Given the description of an element on the screen output the (x, y) to click on. 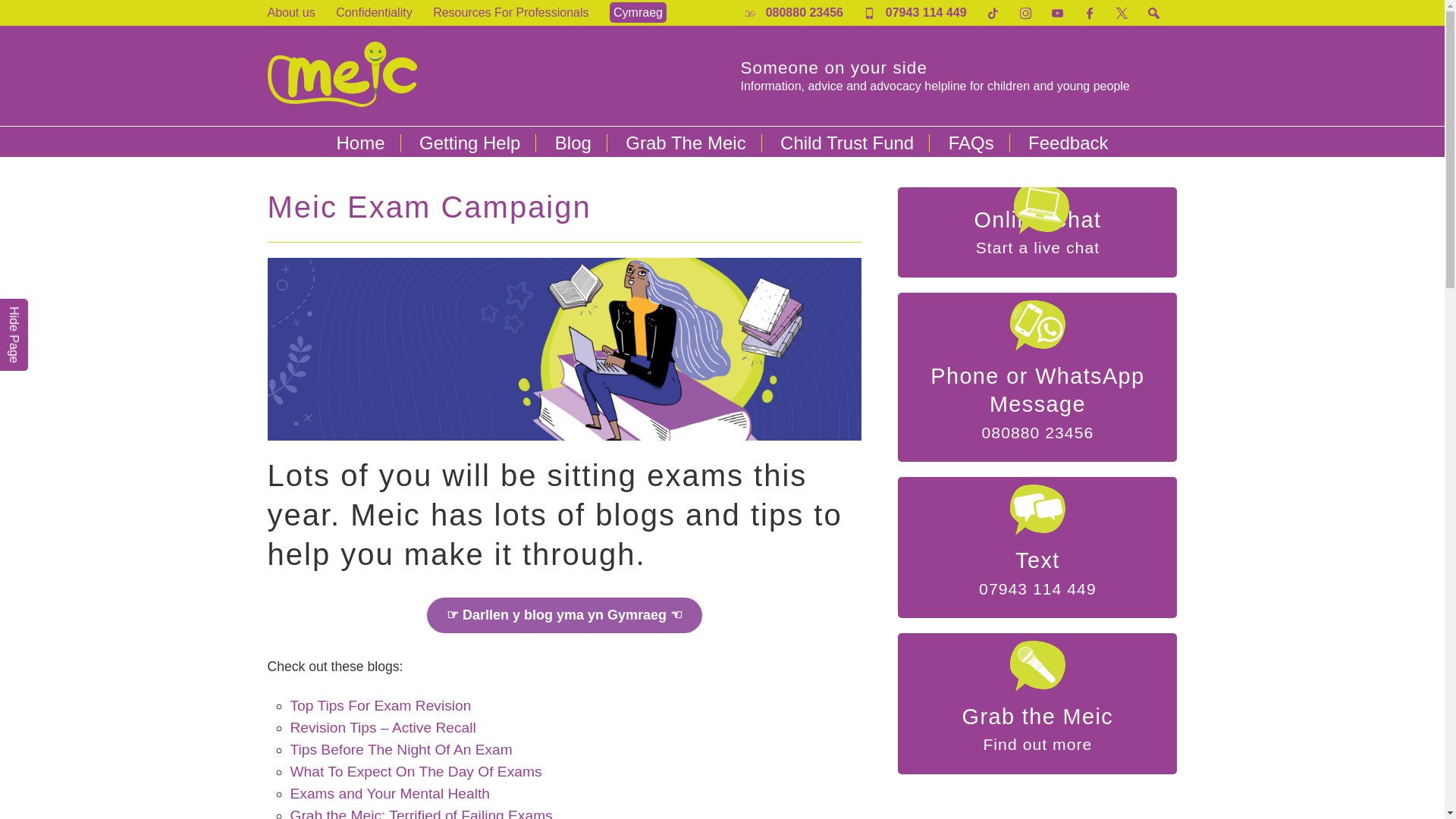
  07943 114 449 (914, 11)
  080880 23456 (793, 11)
Confidentiality (374, 11)
About us (290, 11)
Resources For Professionals (510, 11)
Cymraeg (638, 12)
Hide Page (28, 320)
